Given the description of an element on the screen output the (x, y) to click on. 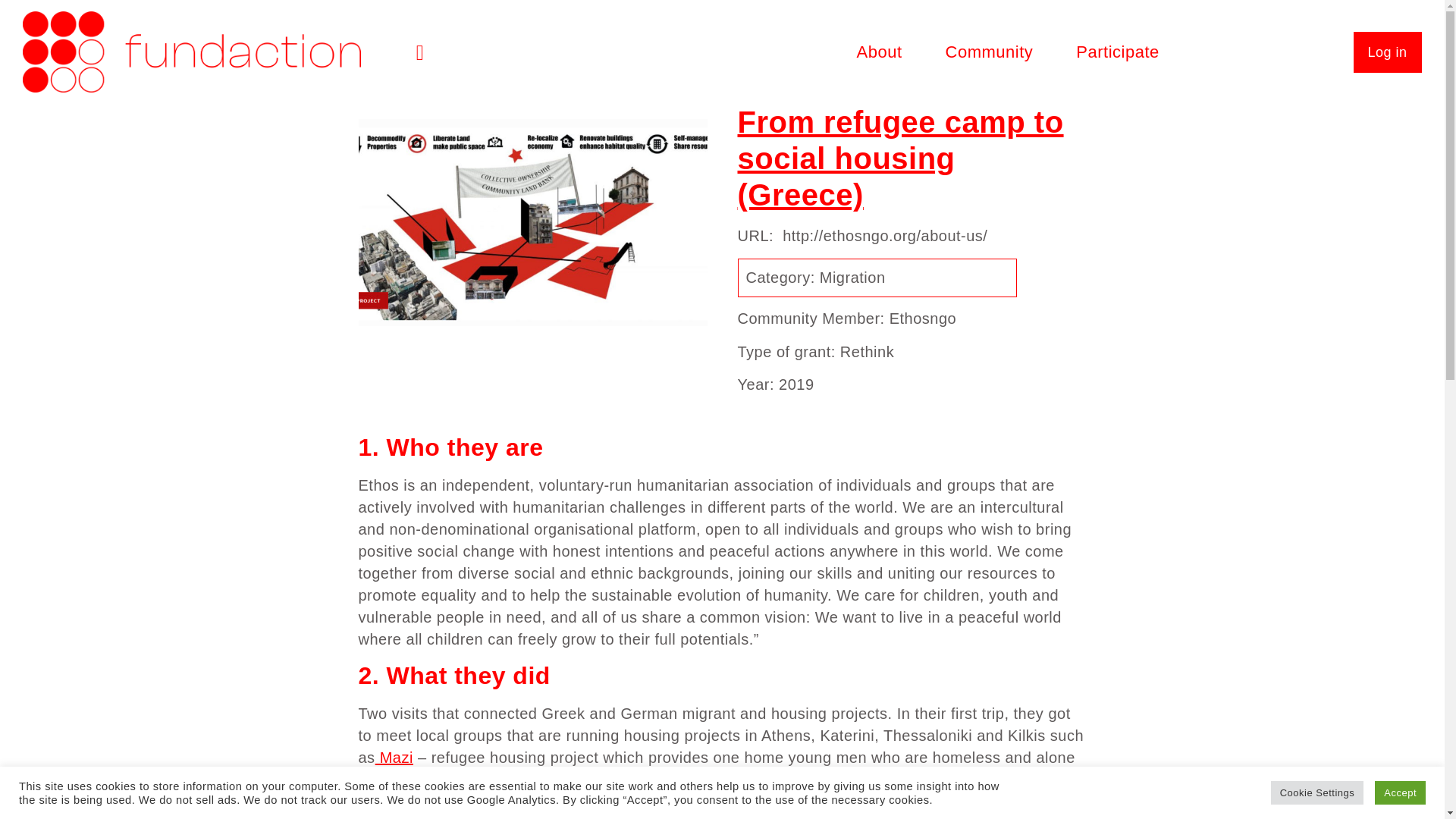
Mazi (394, 757)
About (879, 29)
Community (989, 30)
Log in (1386, 51)
Communitism (928, 779)
Holes in the Borders (503, 779)
Participate (1117, 31)
Co-HabAthens (698, 816)
